Given the description of an element on the screen output the (x, y) to click on. 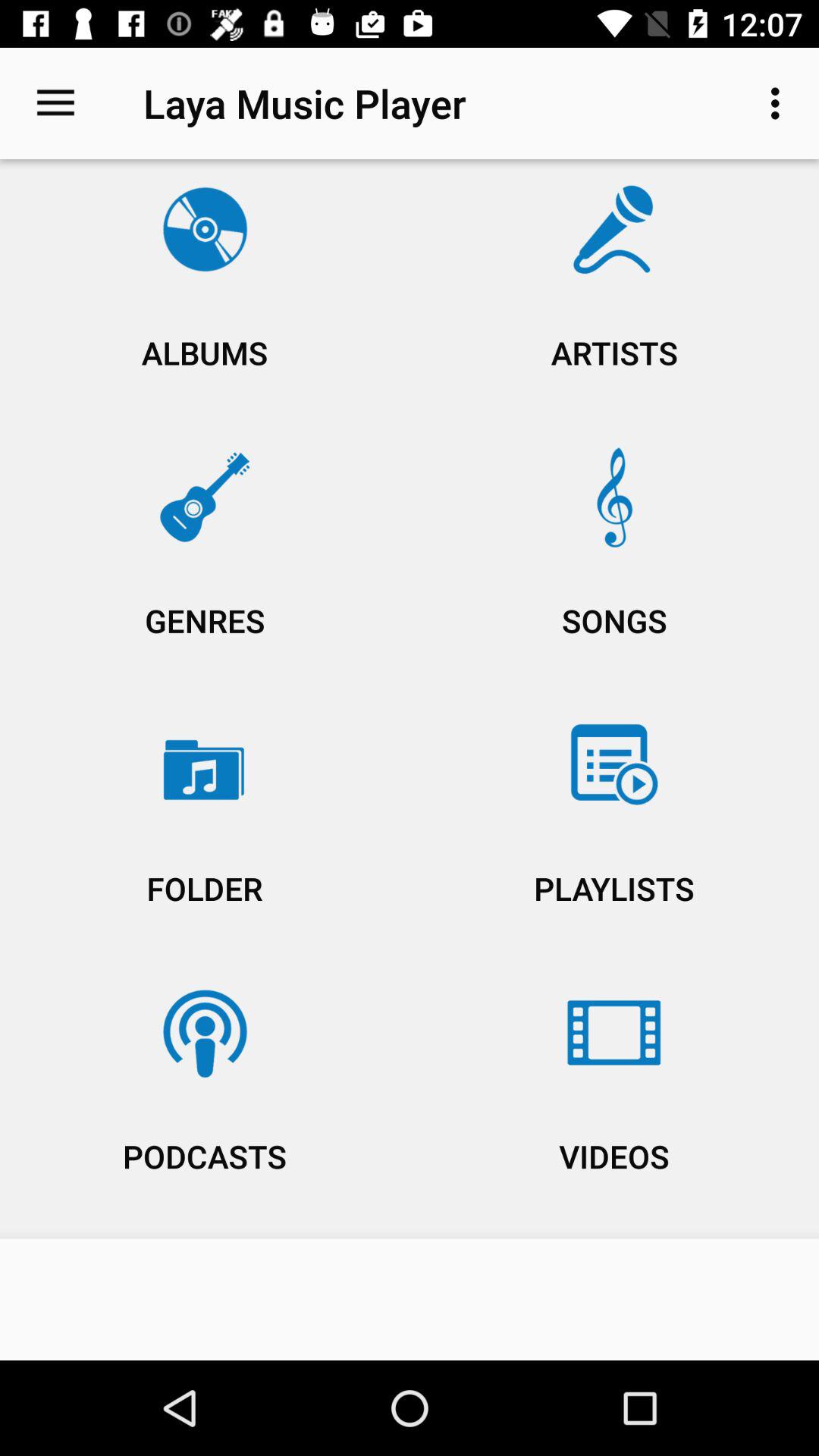
launch genres item (204, 565)
